Given the description of an element on the screen output the (x, y) to click on. 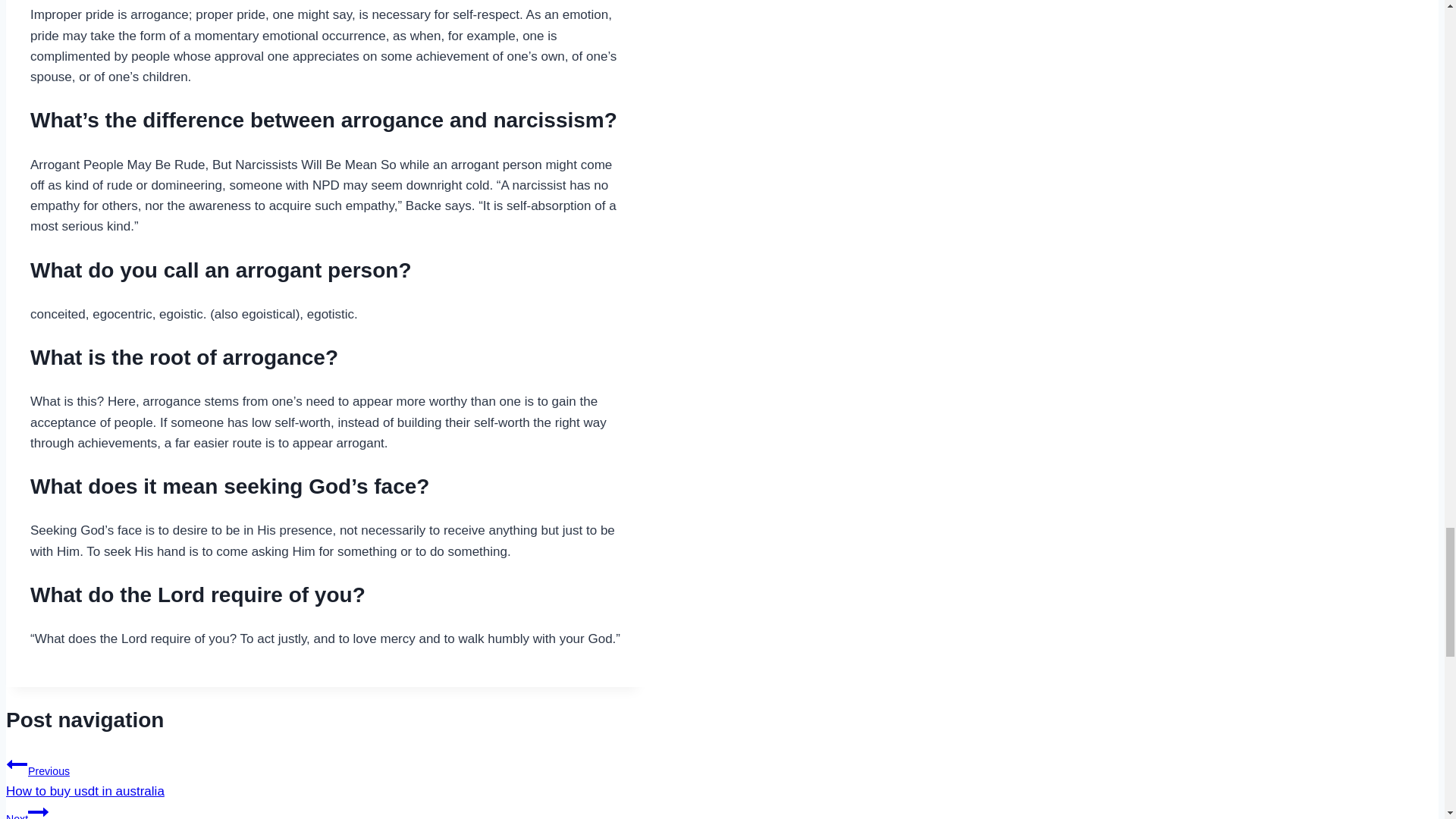
Continue (325, 810)
Previous (325, 775)
